Given the description of an element on the screen output the (x, y) to click on. 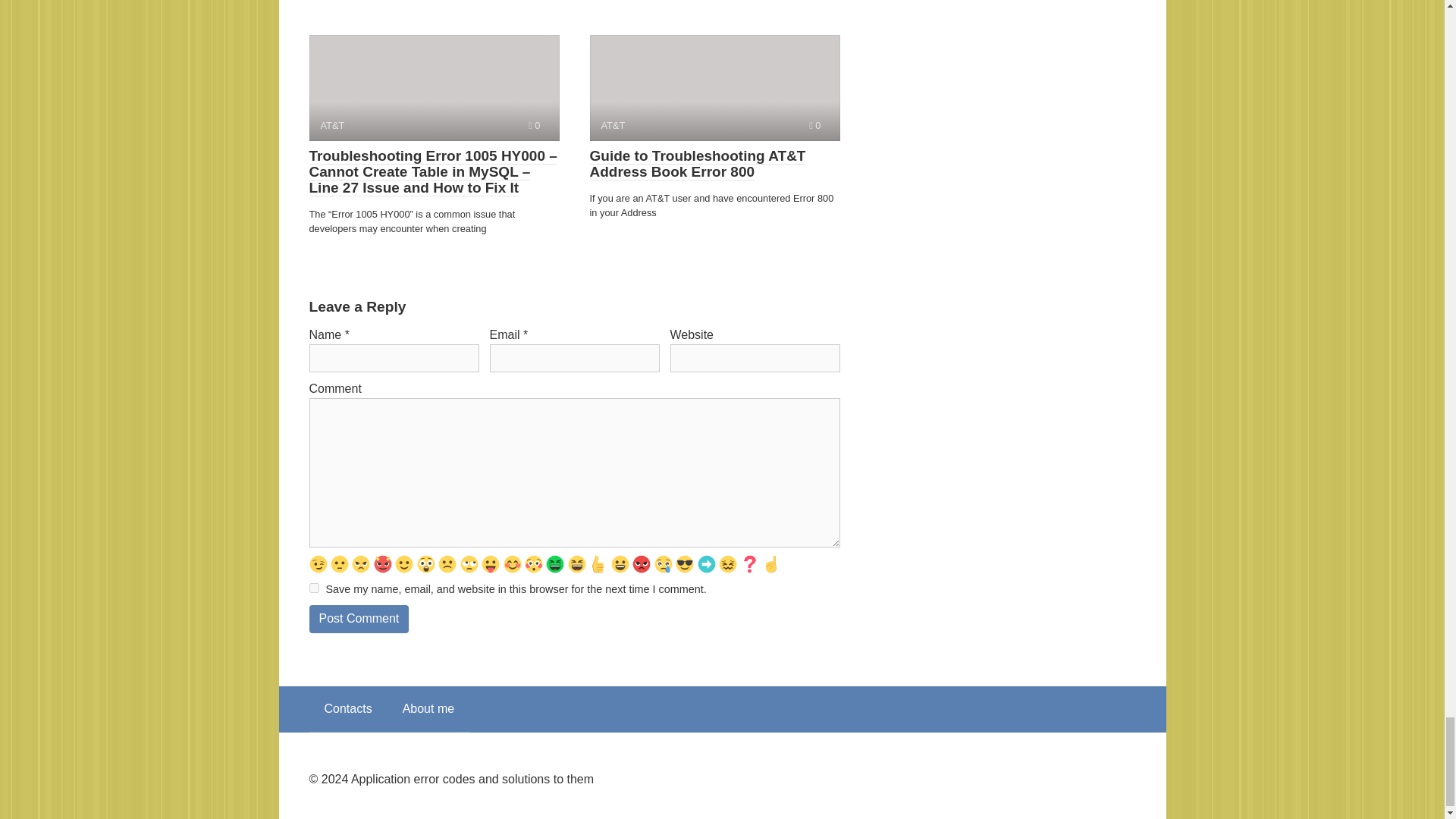
Post Comment (358, 619)
Post Comment (358, 619)
Comments (534, 125)
yes (313, 587)
Comments (815, 125)
